Given the description of an element on the screen output the (x, y) to click on. 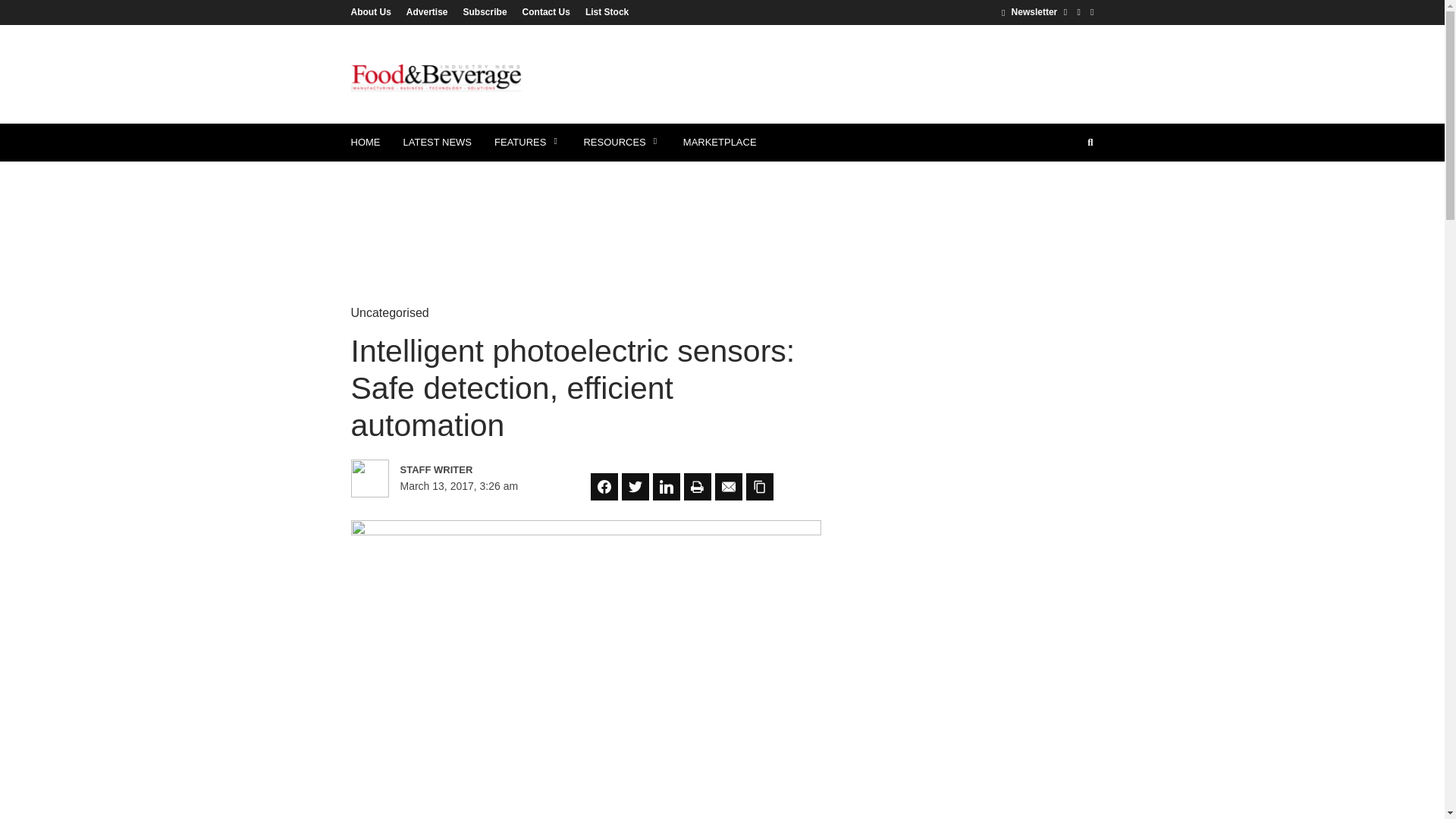
Contact Us (546, 11)
Share on Copy Link (759, 486)
FEATURES (527, 142)
Newsletter (1029, 11)
Share on Twitter (635, 486)
Advertise (426, 11)
Share on Facebook (604, 486)
Subscribe (485, 11)
STAFF WRITER (465, 469)
View all posts by Staff Writer (465, 469)
RESOURCES (621, 142)
About Us (373, 11)
MARKETPLACE (719, 142)
Share on Email (728, 486)
Share on Print (697, 486)
